Given the description of an element on the screen output the (x, y) to click on. 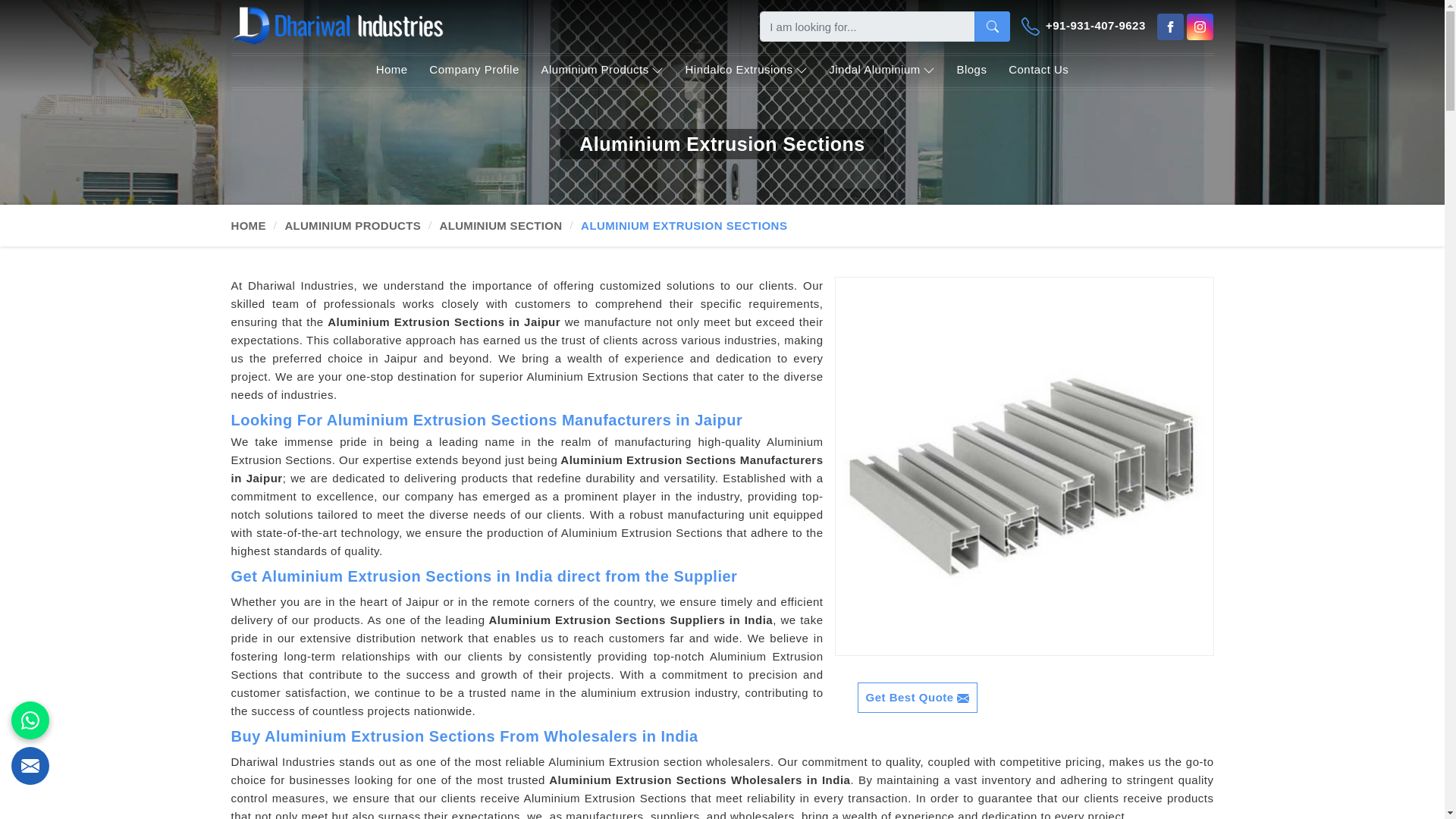
Instagram (1199, 26)
Company Profile (473, 71)
Dhariwal Industries (336, 24)
Company Profile (473, 71)
Call Us (1083, 26)
Facebook (1170, 26)
Home (391, 71)
Aluminium Products (601, 71)
Aluminium Products (601, 71)
Home (391, 71)
